Given the description of an element on the screen output the (x, y) to click on. 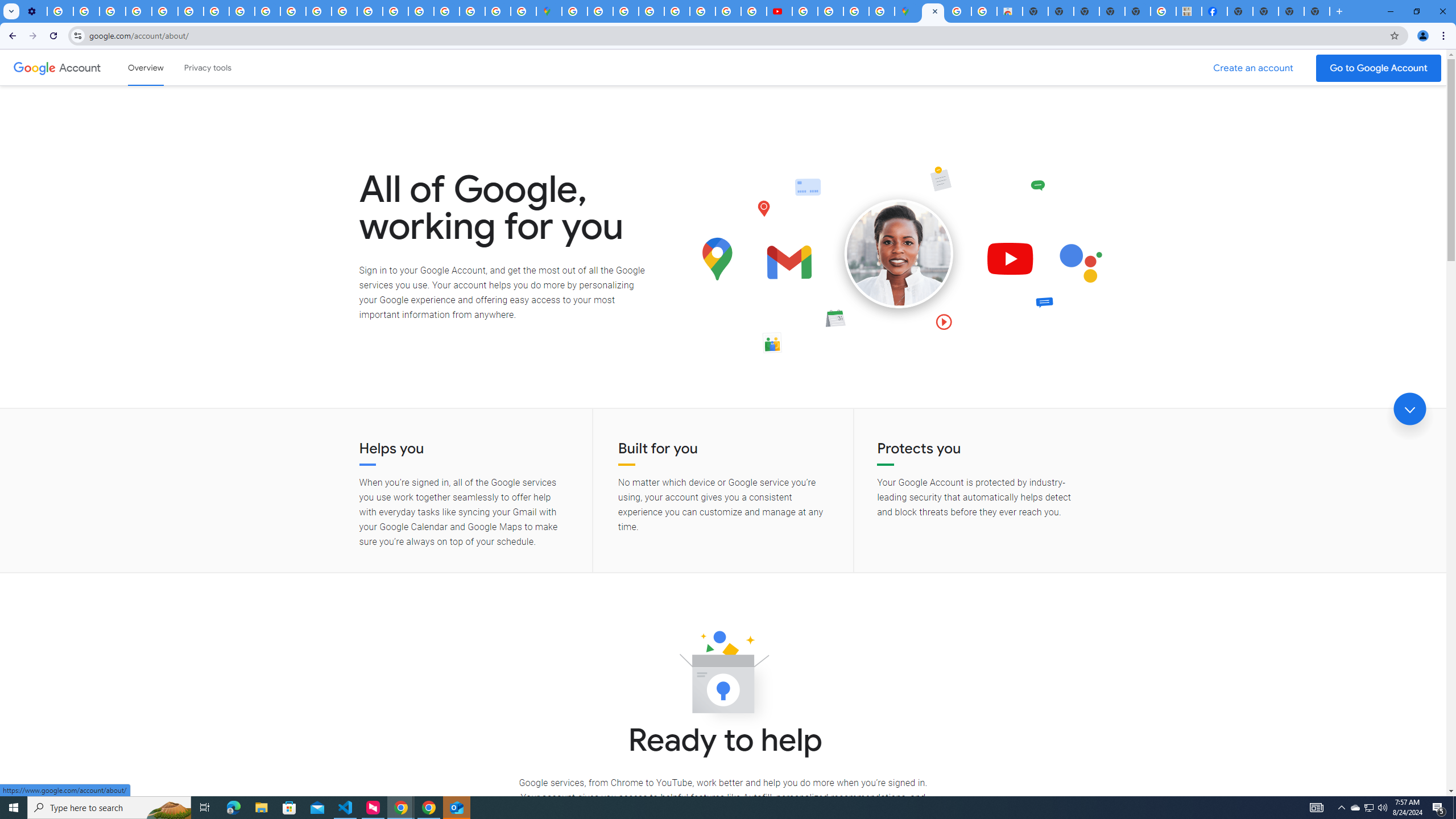
Google Account (80, 67)
Privacy Help Center - Policies Help (702, 11)
Privacy Help Center - Policies Help (165, 11)
https://scholar.google.com/ (318, 11)
YouTube (190, 11)
Chrome Web Store - Shopping (1009, 11)
Google Maps (548, 11)
